Given the description of an element on the screen output the (x, y) to click on. 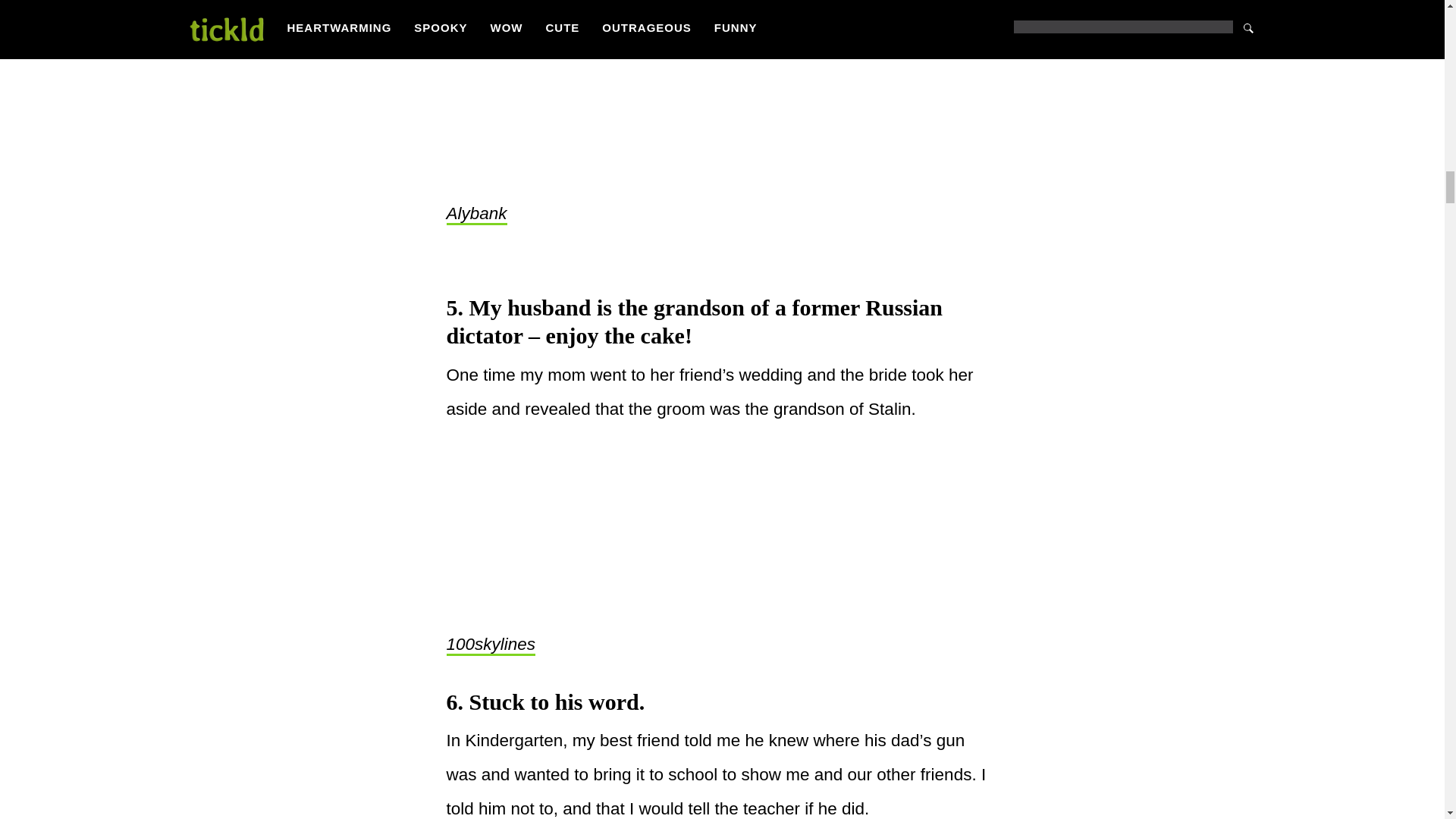
100skylines (490, 645)
Alybank (475, 214)
